Given the description of an element on the screen output the (x, y) to click on. 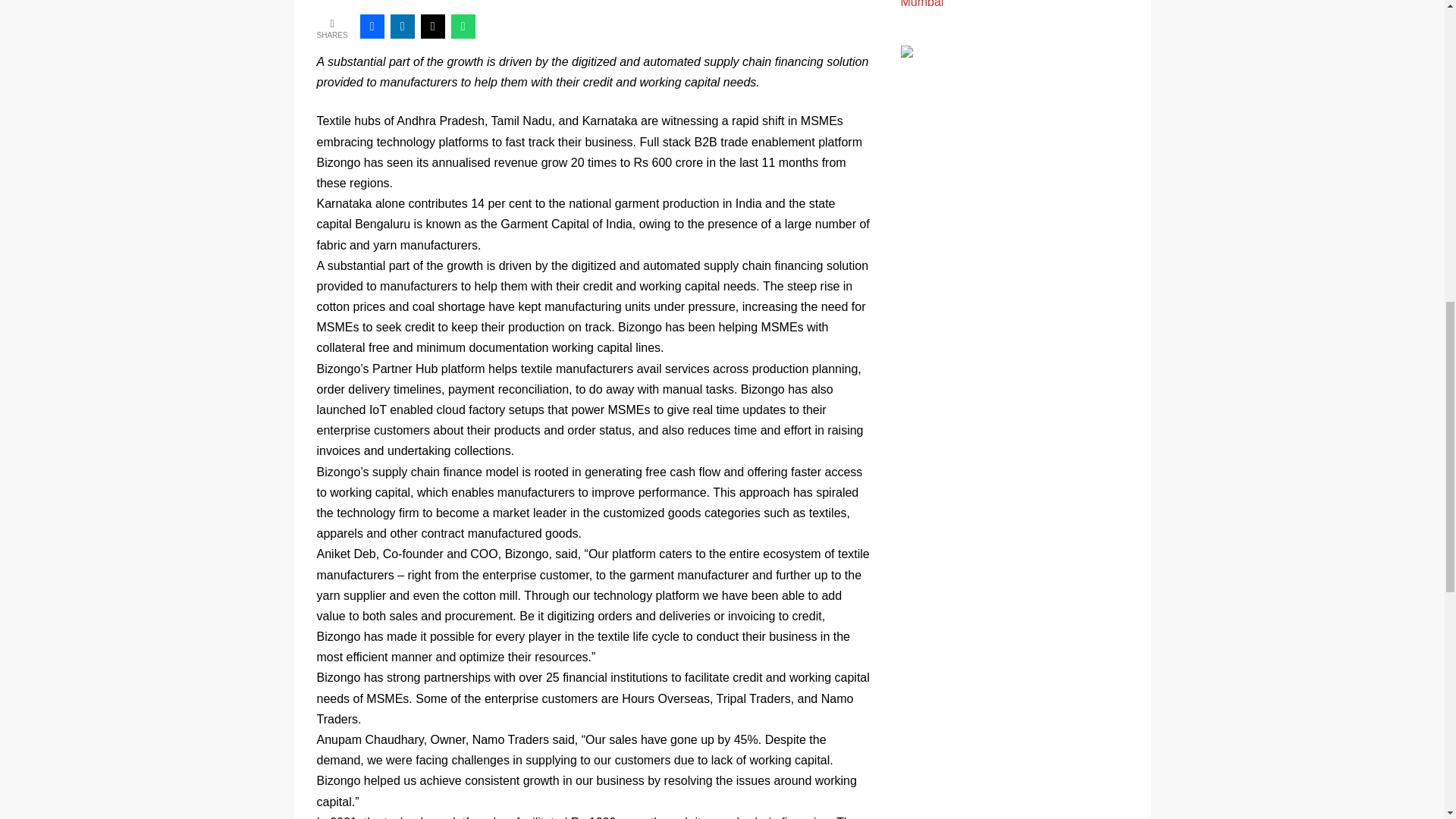
WhatsApp (463, 25)
Add this to LinkedIn (402, 25)
Share this on X (432, 25)
Share this on Facebook (371, 25)
